Given the description of an element on the screen output the (x, y) to click on. 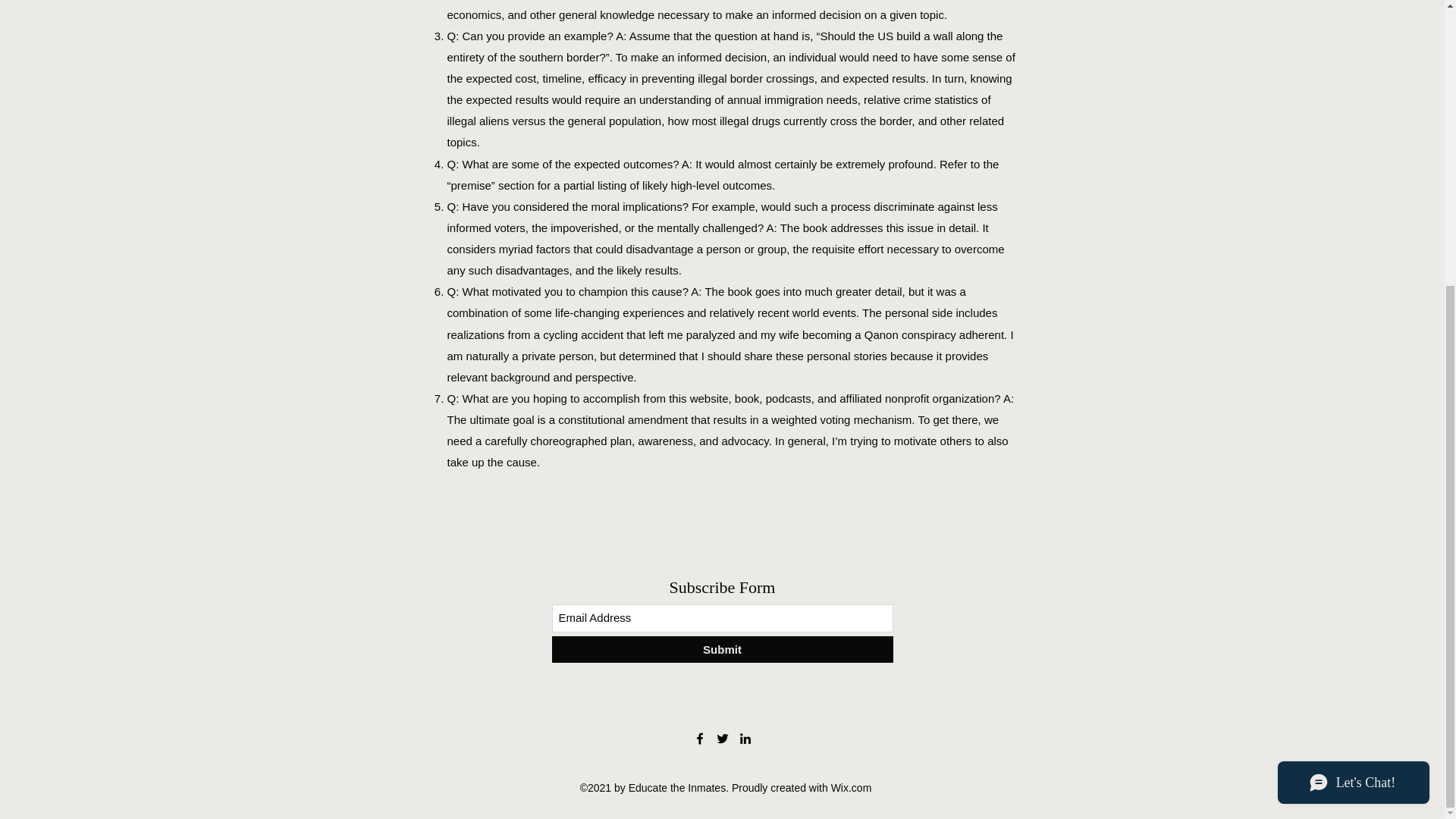
Submit (722, 649)
